Given the description of an element on the screen output the (x, y) to click on. 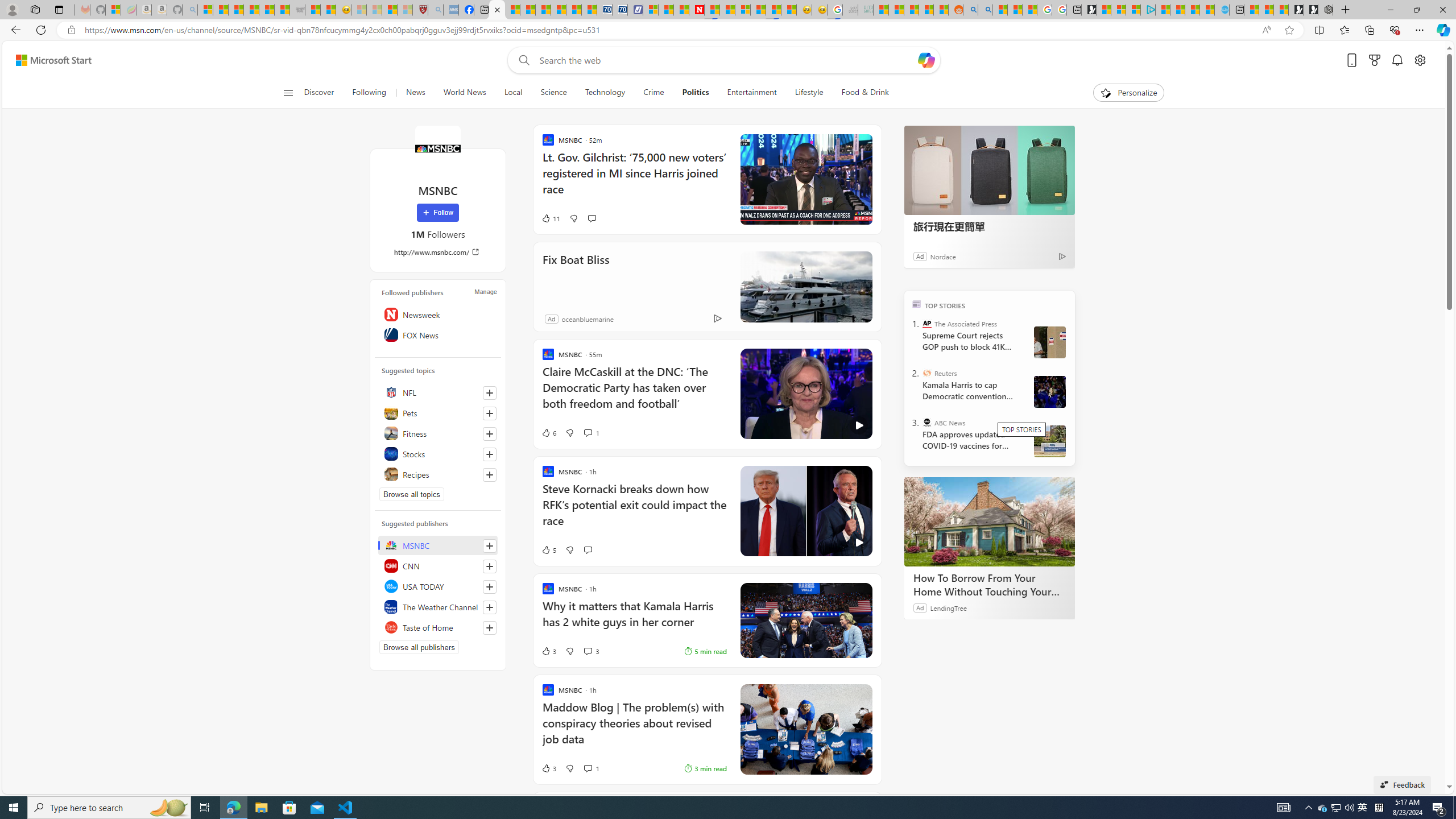
Taste of Home (437, 627)
